Given the description of an element on the screen output the (x, y) to click on. 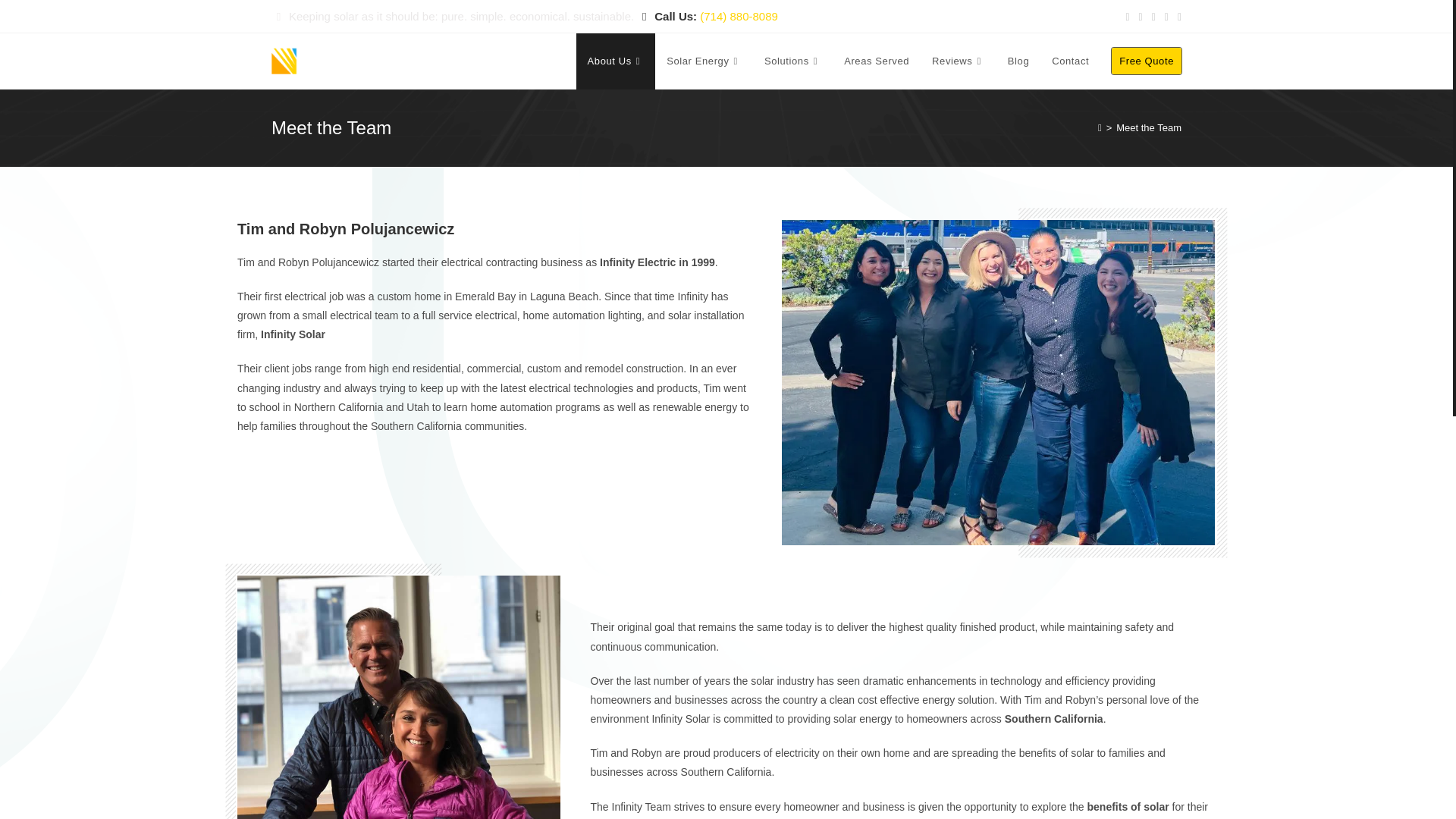
About Us (616, 61)
Contact (1070, 61)
Solar Energy (703, 61)
Solutions (792, 61)
Reviews (957, 61)
Free Quote (1146, 61)
Areas Served (876, 61)
